Given the description of an element on the screen output the (x, y) to click on. 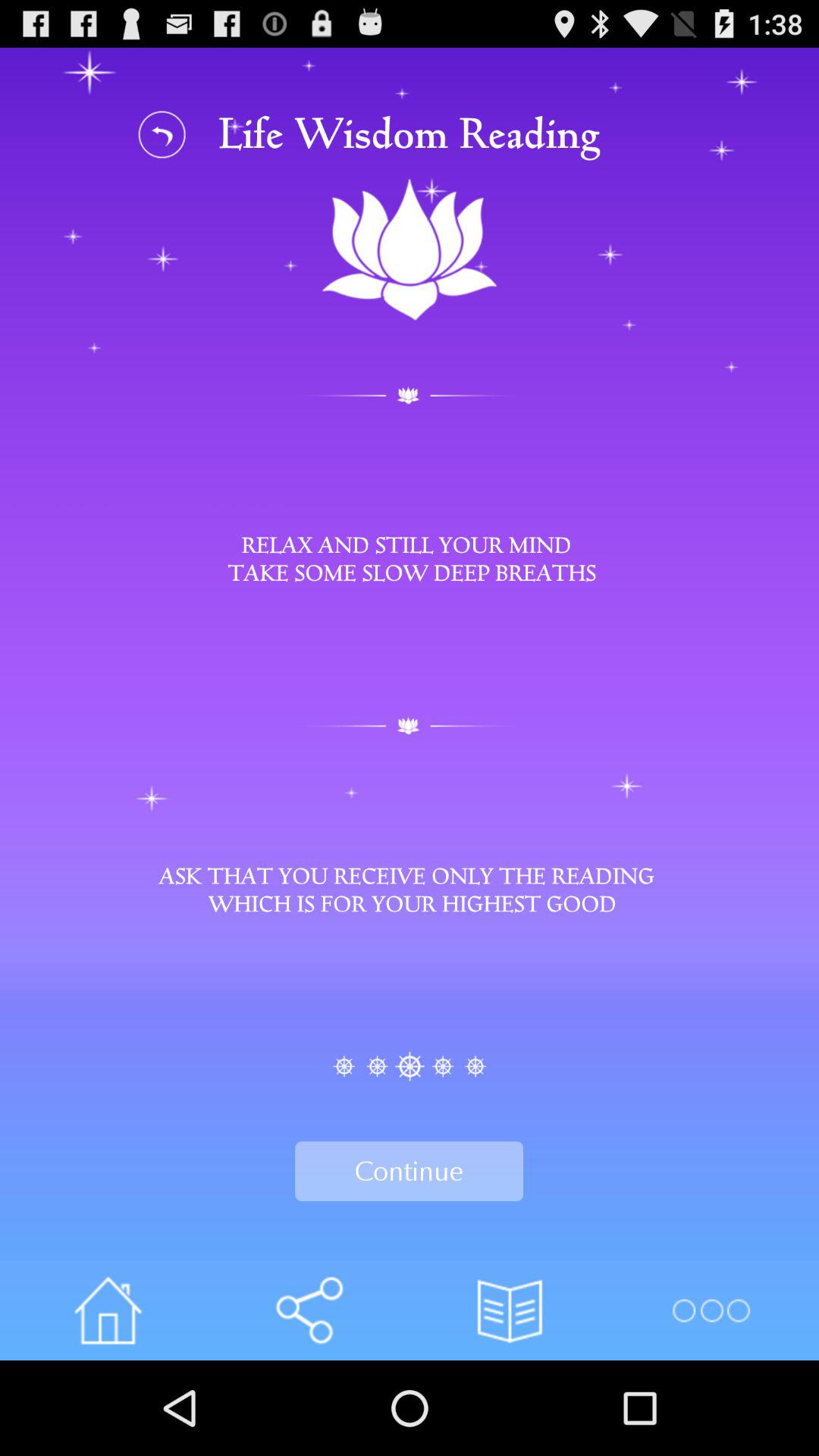
previous screen (162, 133)
